Given the description of an element on the screen output the (x, y) to click on. 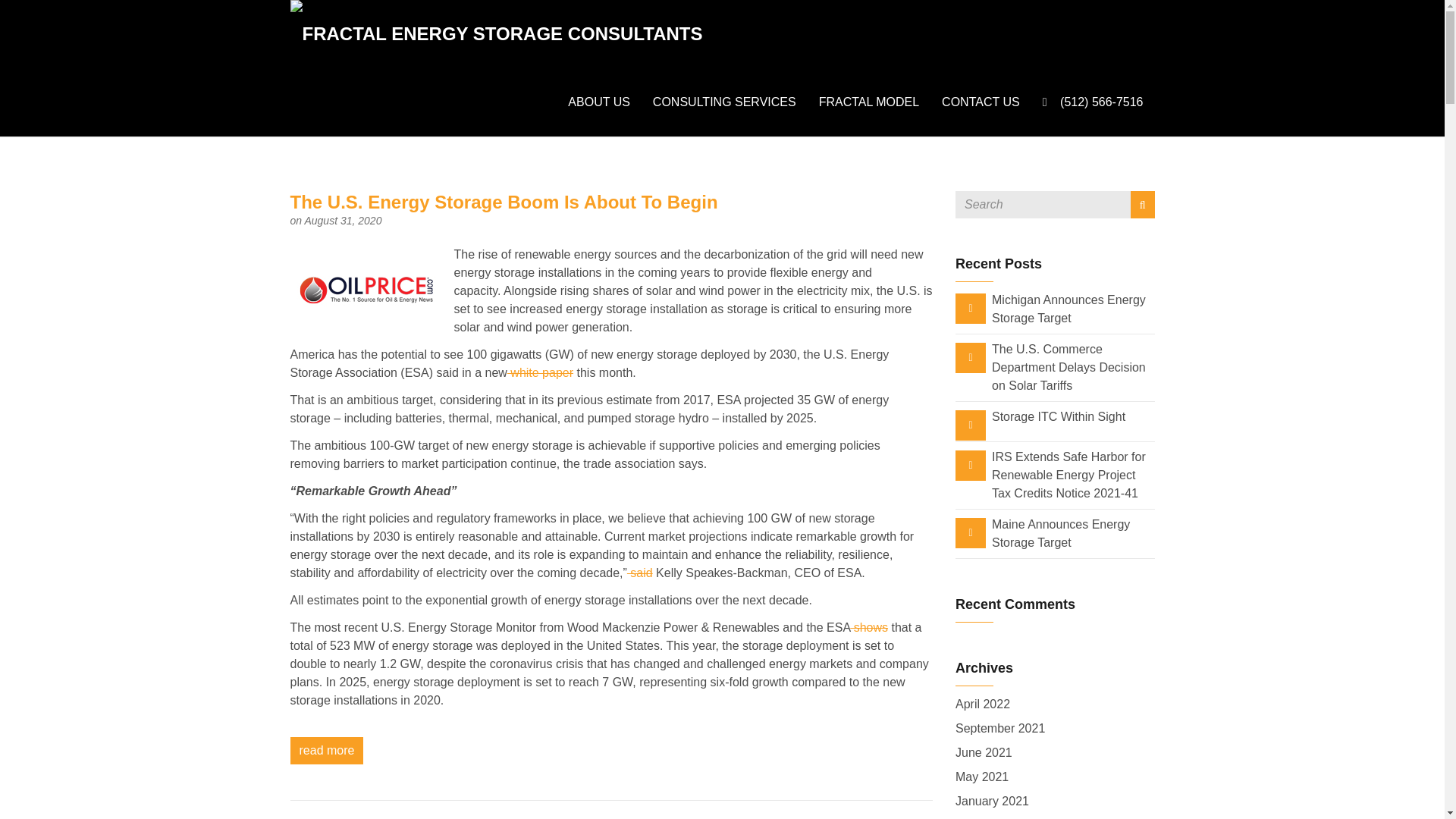
Permalink to The U.S. Energy Storage Boom Is About To Begin (503, 201)
 shows (869, 626)
Storage ITC Within Sight (1058, 416)
The U.S. Energy Storage Boom Is About To Begin (503, 201)
 white paper (539, 372)
CONTACT US (980, 101)
CONSULTING SERVICES (725, 101)
Michigan Announces Energy Storage Target (1068, 308)
FRACTAL MODEL (869, 101)
